Given the description of an element on the screen output the (x, y) to click on. 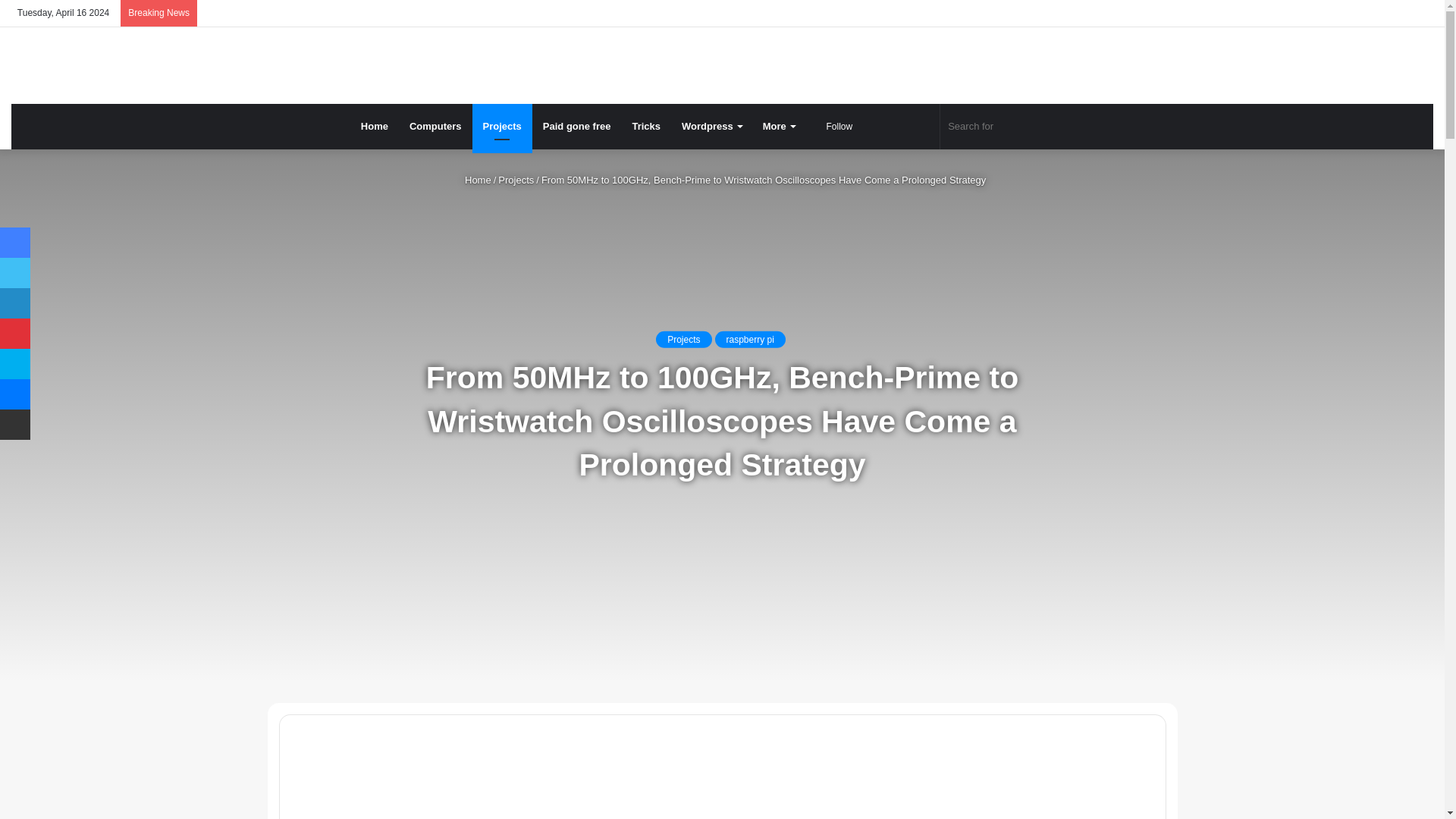
Paid gone free (576, 126)
Tricks (646, 126)
Wordpress (711, 126)
Follow (834, 126)
Projects (501, 126)
Home (374, 126)
Search for (1017, 126)
More (778, 126)
Computers (434, 126)
